Given the description of an element on the screen output the (x, y) to click on. 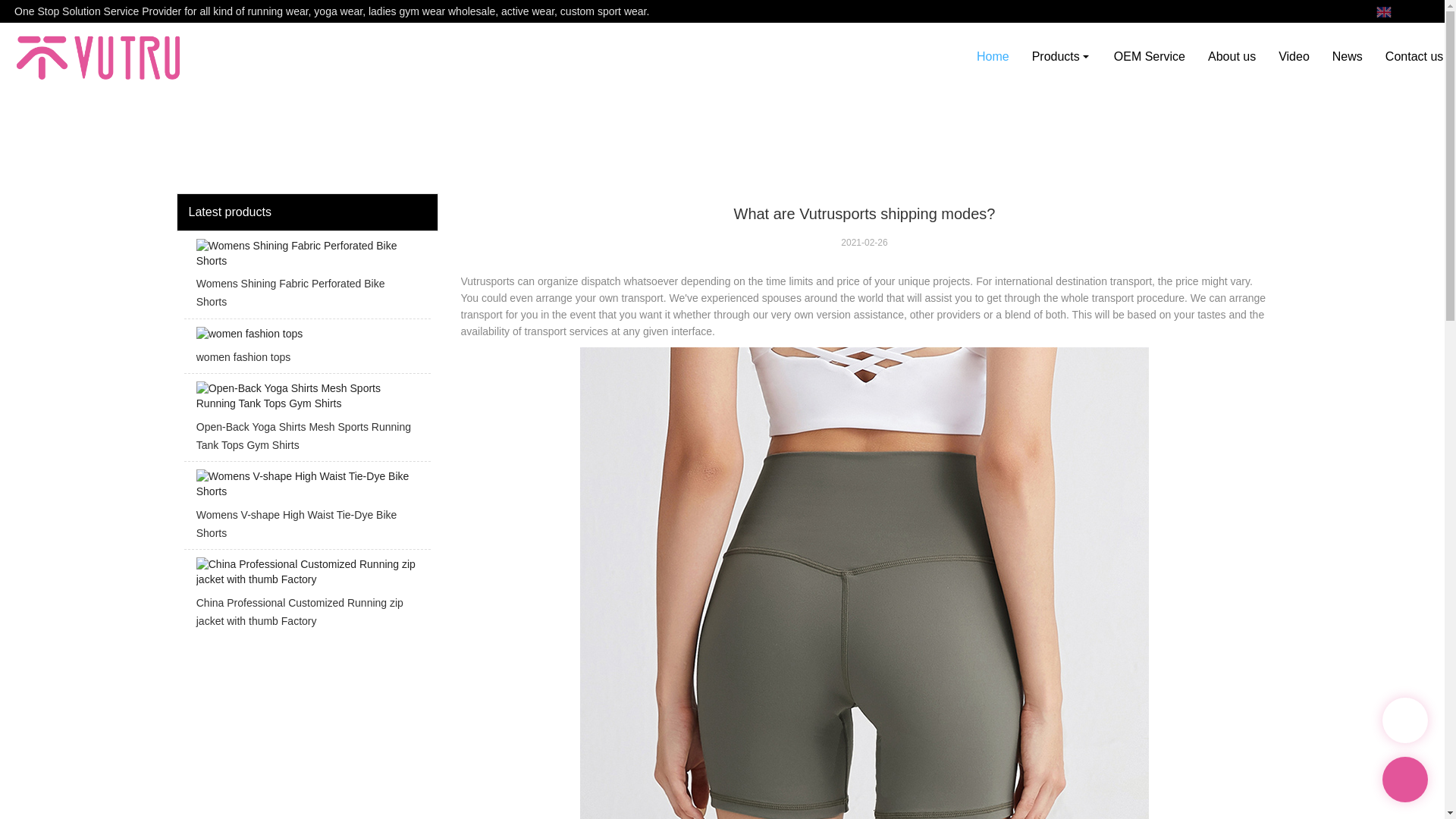
women fashion tops (306, 349)
OEM Service (1149, 56)
Products (1061, 56)
About us (1231, 56)
Womens V-shape High Waist Tie-Dye Bike Shorts (306, 508)
Womens Shining Fabric Perforated Bike Shorts (306, 278)
